Given the description of an element on the screen output the (x, y) to click on. 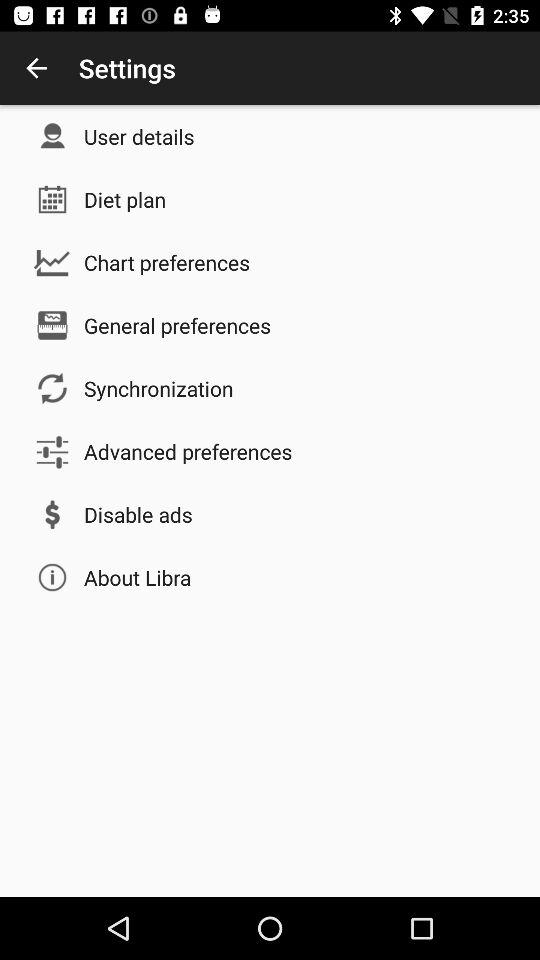
launch the user details item (139, 136)
